Given the description of an element on the screen output the (x, y) to click on. 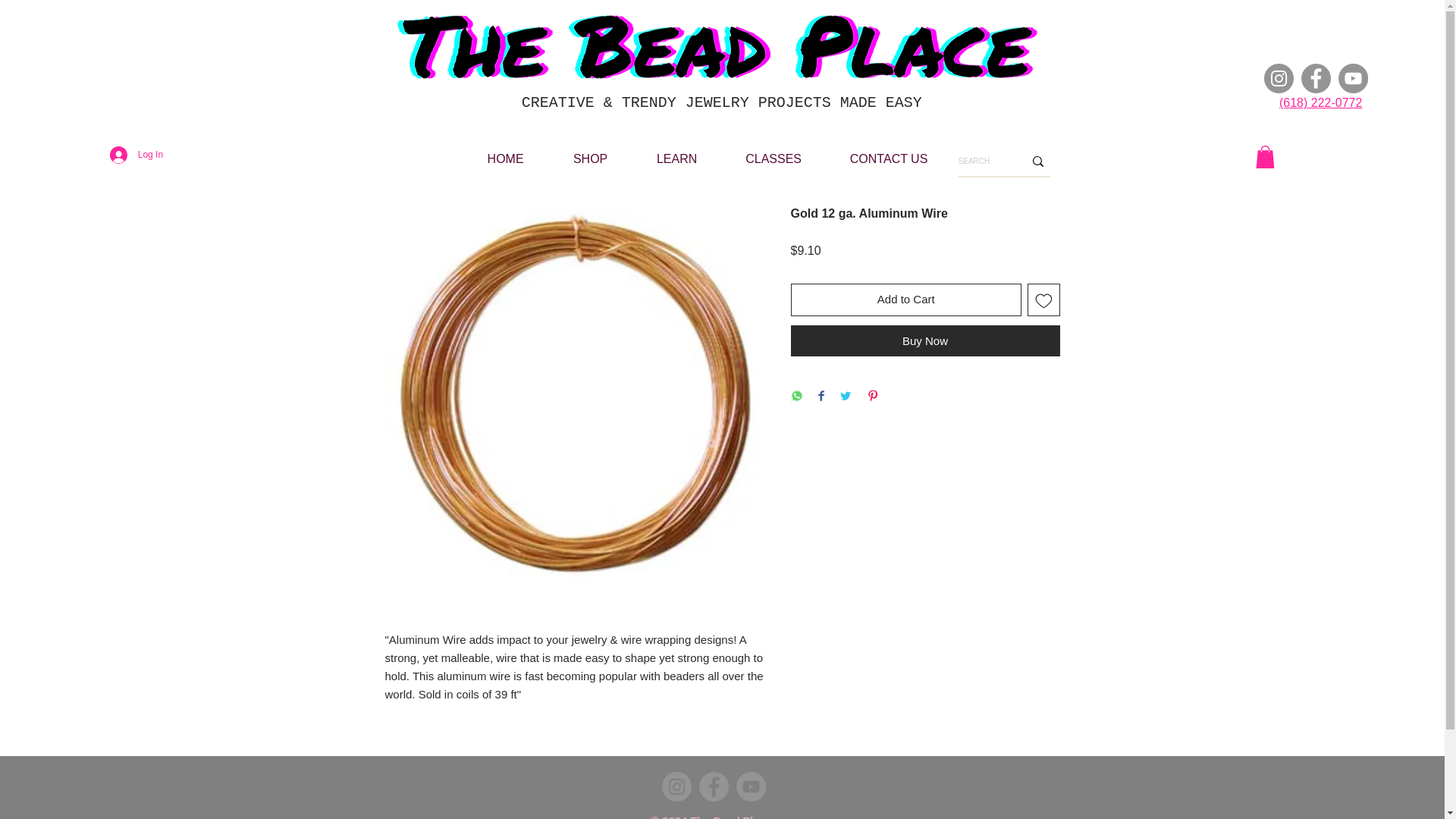
CONTACT US (888, 158)
HOME (505, 158)
CLASSES (773, 158)
SHOP (589, 158)
Buy Now (924, 340)
Smile.io Rewards Program Launcher (37, 780)
Add to Cart (906, 299)
Log In (136, 153)
LEARN (676, 158)
